Given the description of an element on the screen output the (x, y) to click on. 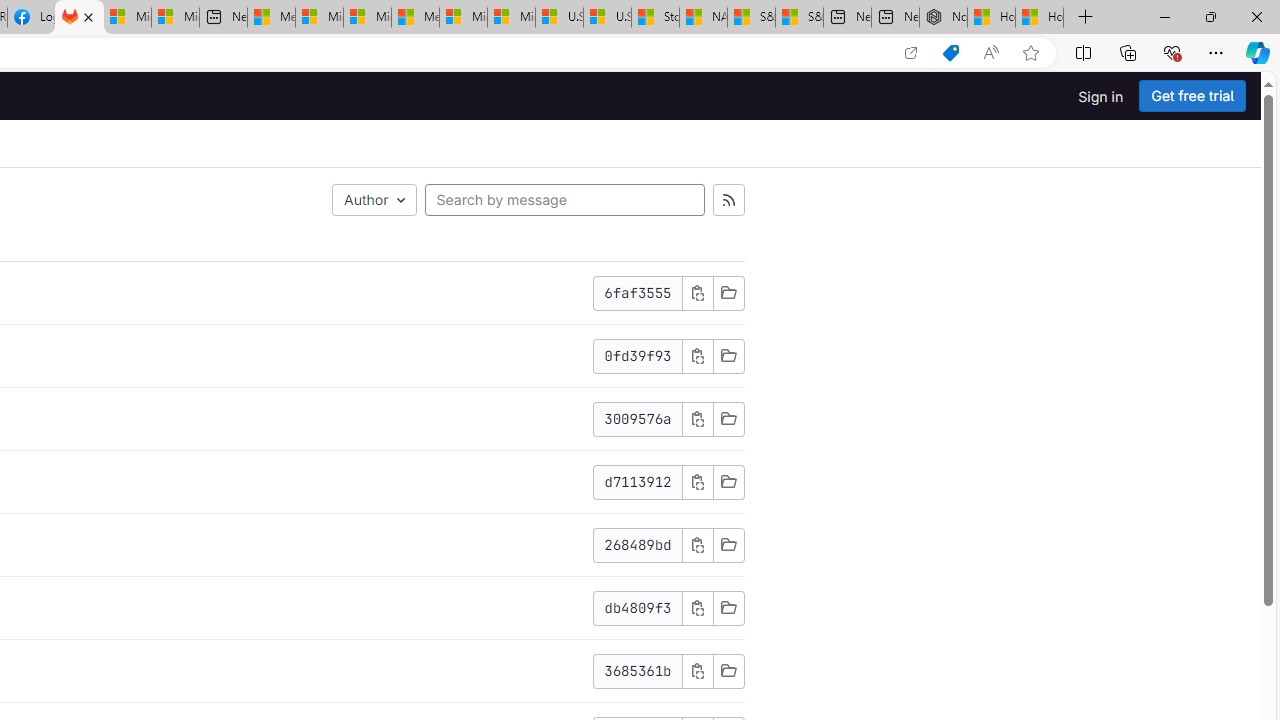
Get free trial (1192, 95)
Sign in (1100, 95)
Microsoft account | Privacy (319, 17)
Sign in (1100, 95)
Microsoft account | Home (367, 17)
Commits feed (727, 200)
Browse Files (727, 671)
